Given the description of an element on the screen output the (x, y) to click on. 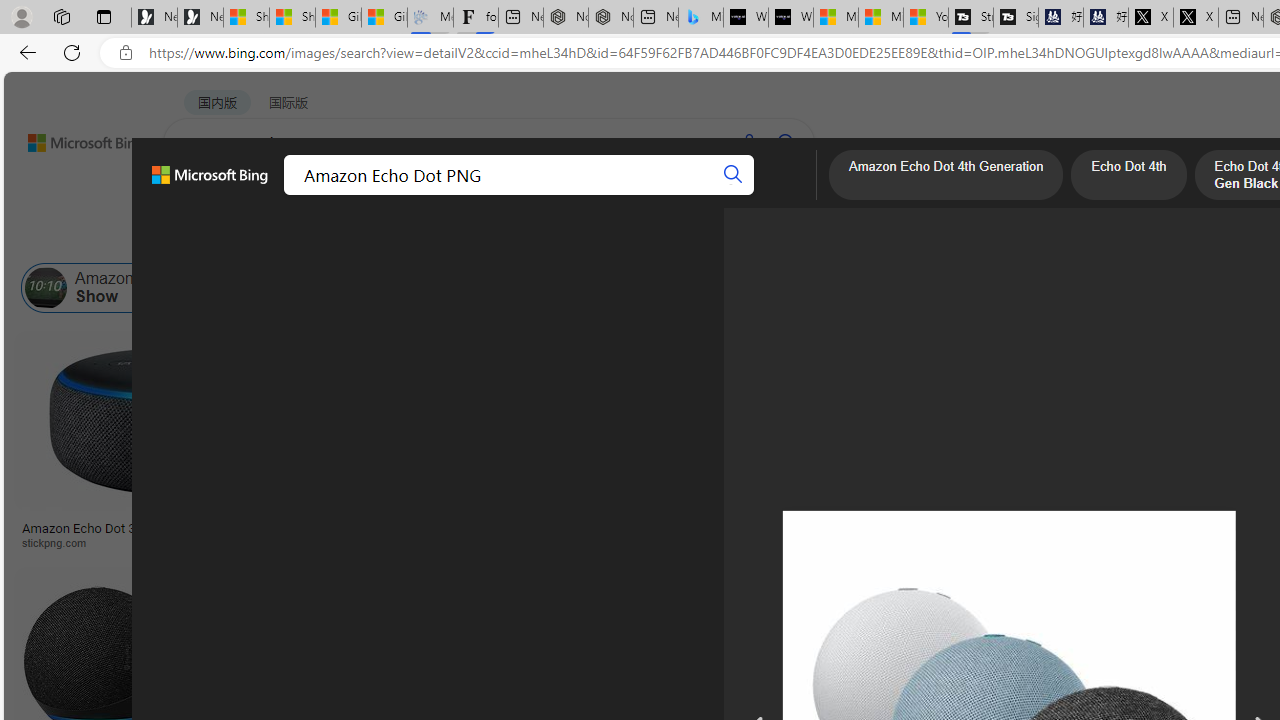
With Clock (995, 460)
Amazon Alexa Echo (283, 287)
WEB (201, 195)
Image result for Amazon Echo Dot PNG (1185, 611)
Echo Dot Accessories (456, 287)
stickpng.herokuapp.com (600, 541)
Microsoft Bing Travel - Shangri-La Hotel Bangkok (700, 17)
stickpng.herokuapp.com (614, 542)
